Given the description of an element on the screen output the (x, y) to click on. 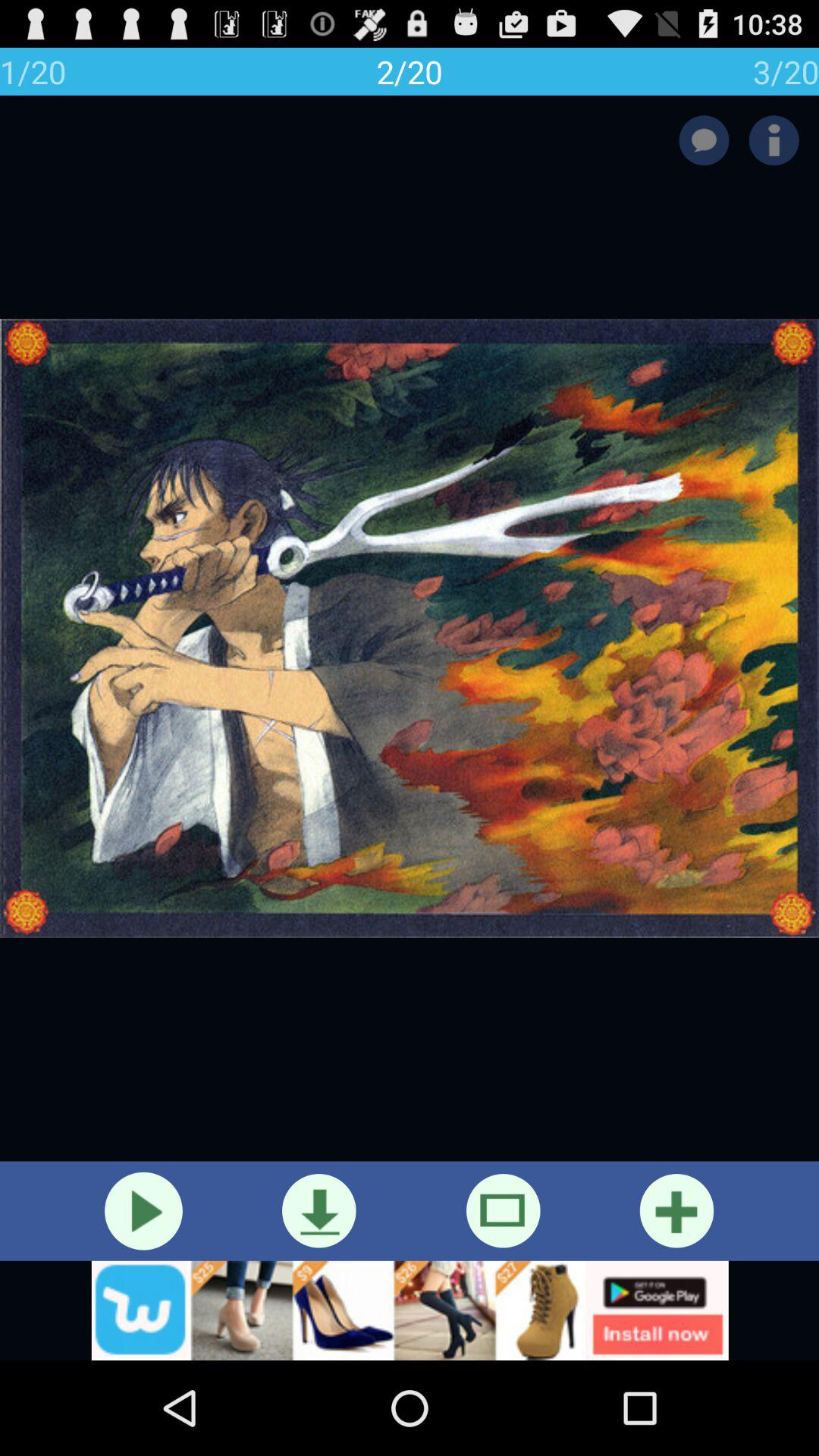
add button (676, 1210)
